Given the description of an element on the screen output the (x, y) to click on. 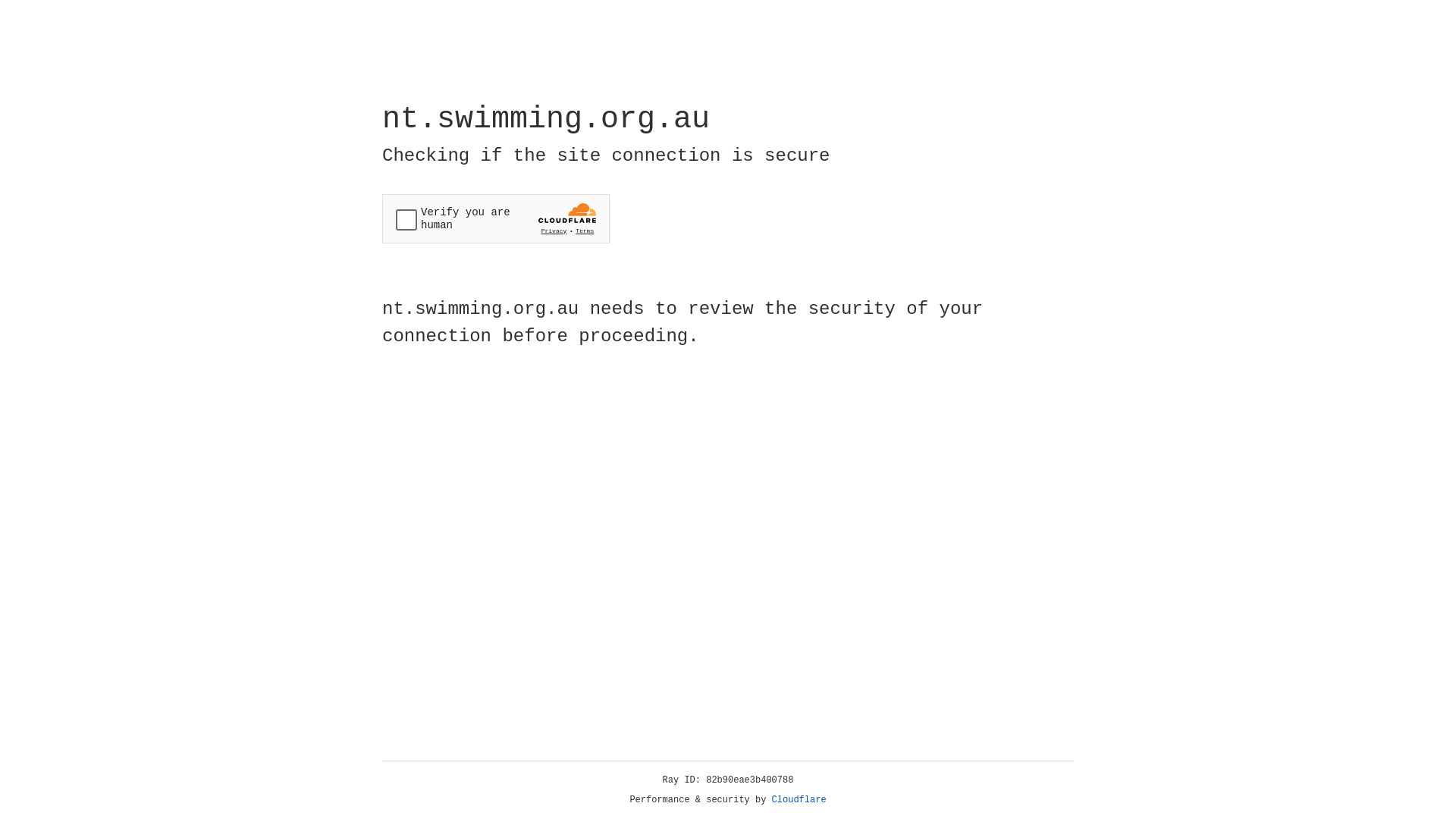
Widget containing a Cloudflare security challenge Element type: hover (495, 218)
Cloudflare Element type: text (798, 799)
